Given the description of an element on the screen output the (x, y) to click on. 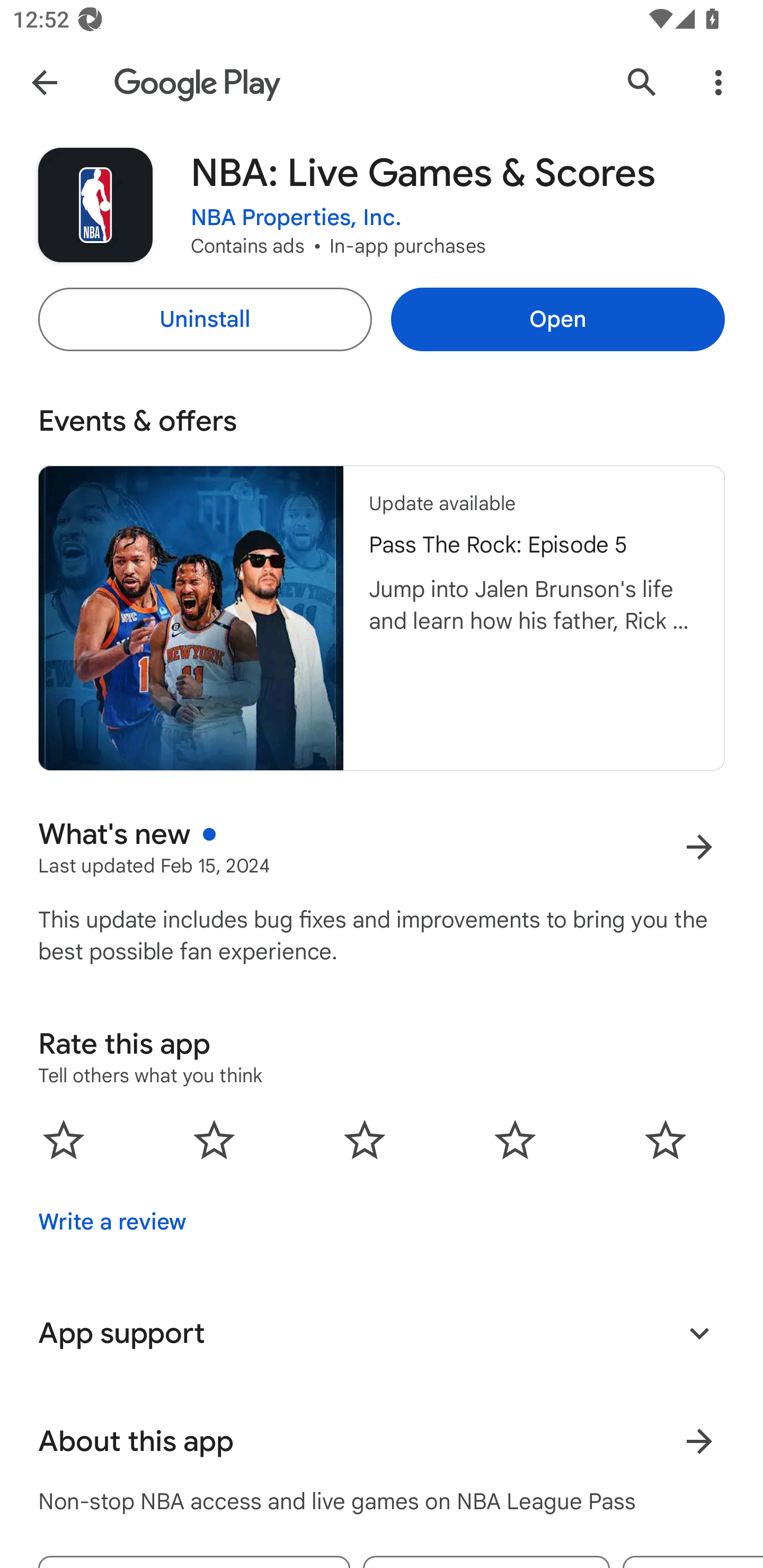
Navigate up (44, 81)
Search Google Play (642, 81)
More Options (718, 81)
NBA Properties, Inc. (295, 217)
Uninstall (205, 318)
Open (557, 318)
More results for What's new (699, 847)
0.0 (364, 1138)
Write a review (112, 1221)
App support Expand (381, 1333)
Expand (699, 1333)
About this app Learn more About this app (381, 1441)
Learn more About this app (699, 1441)
